Given the description of an element on the screen output the (x, y) to click on. 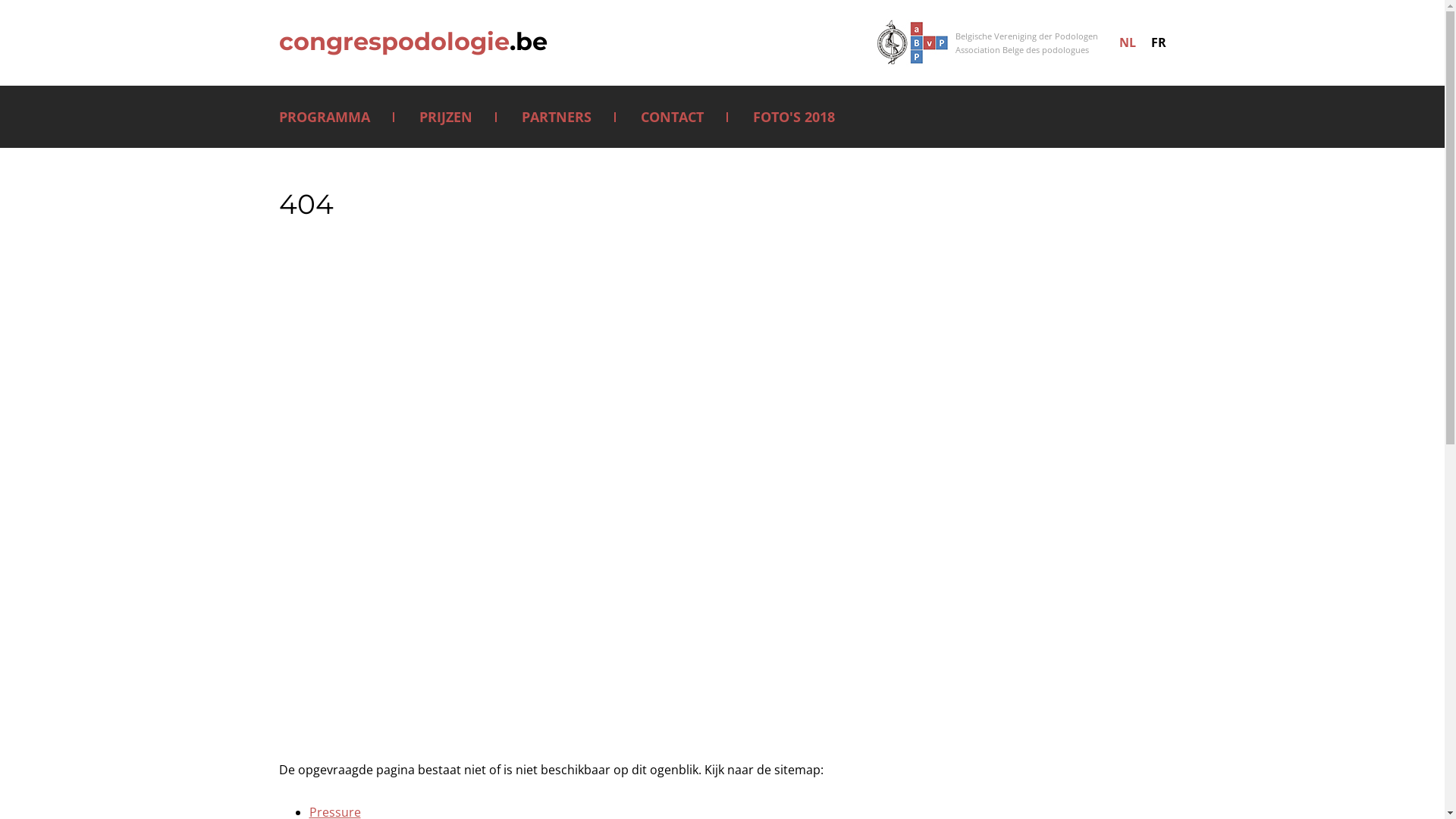
PARTNERS Element type: text (556, 116)
FR Element type: text (1157, 42)
PRIJZEN Element type: text (444, 116)
NL Element type: text (1126, 42)
FOTO'S 2018 Element type: text (793, 116)
CONTACT Element type: text (671, 116)
PROGRAMMA Element type: text (324, 116)
congrespodologie.be Element type: text (413, 41)
